Given the description of an element on the screen output the (x, y) to click on. 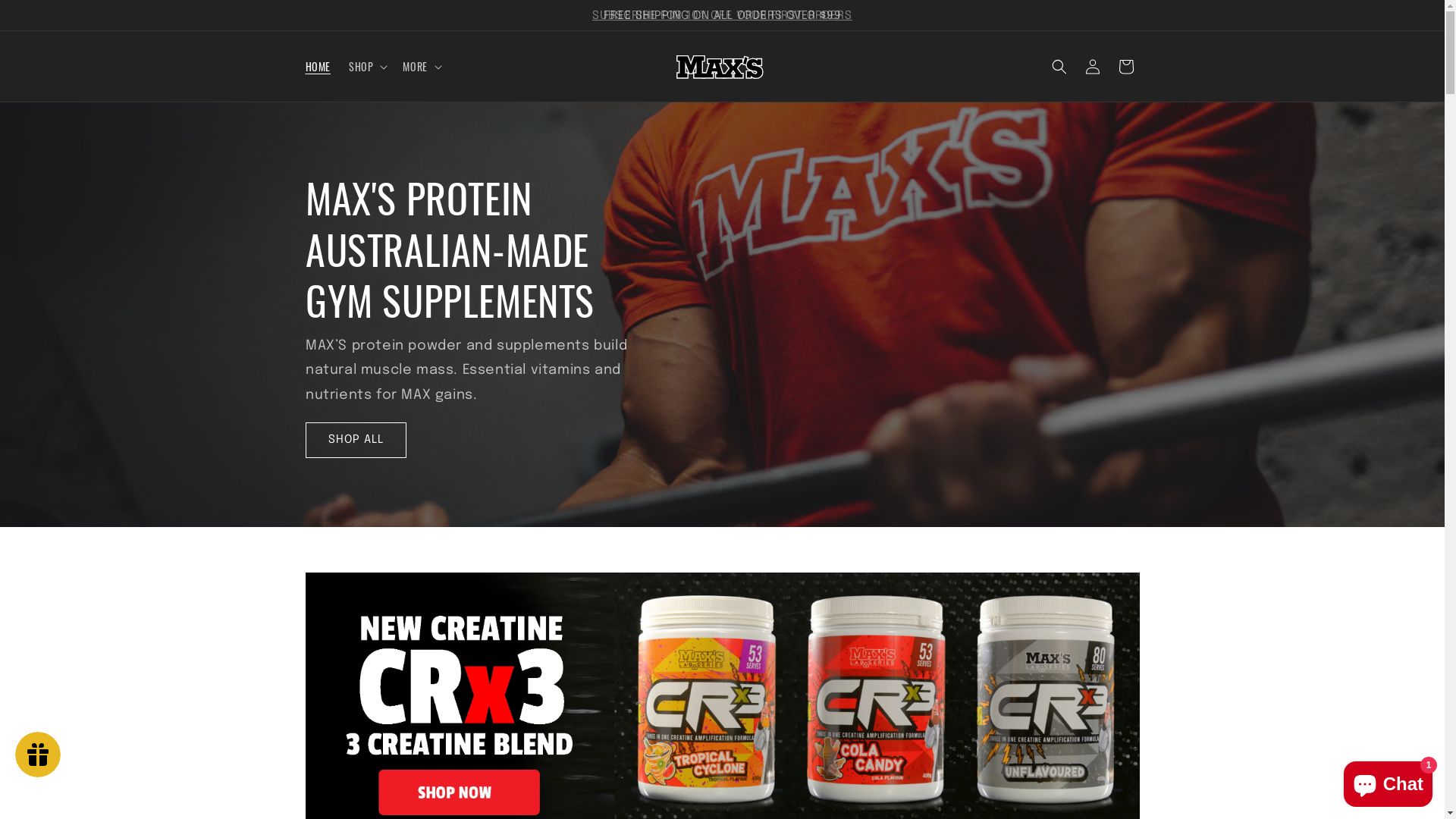
Shopify online store chat Element type: hover (1388, 780)
Cart Element type: text (1125, 66)
HOME Element type: text (316, 66)
SHOP ALL Element type: text (354, 440)
Smile.io Rewards Program Launcher Element type: hover (37, 754)
Log in Element type: text (1091, 66)
